Given the description of an element on the screen output the (x, y) to click on. 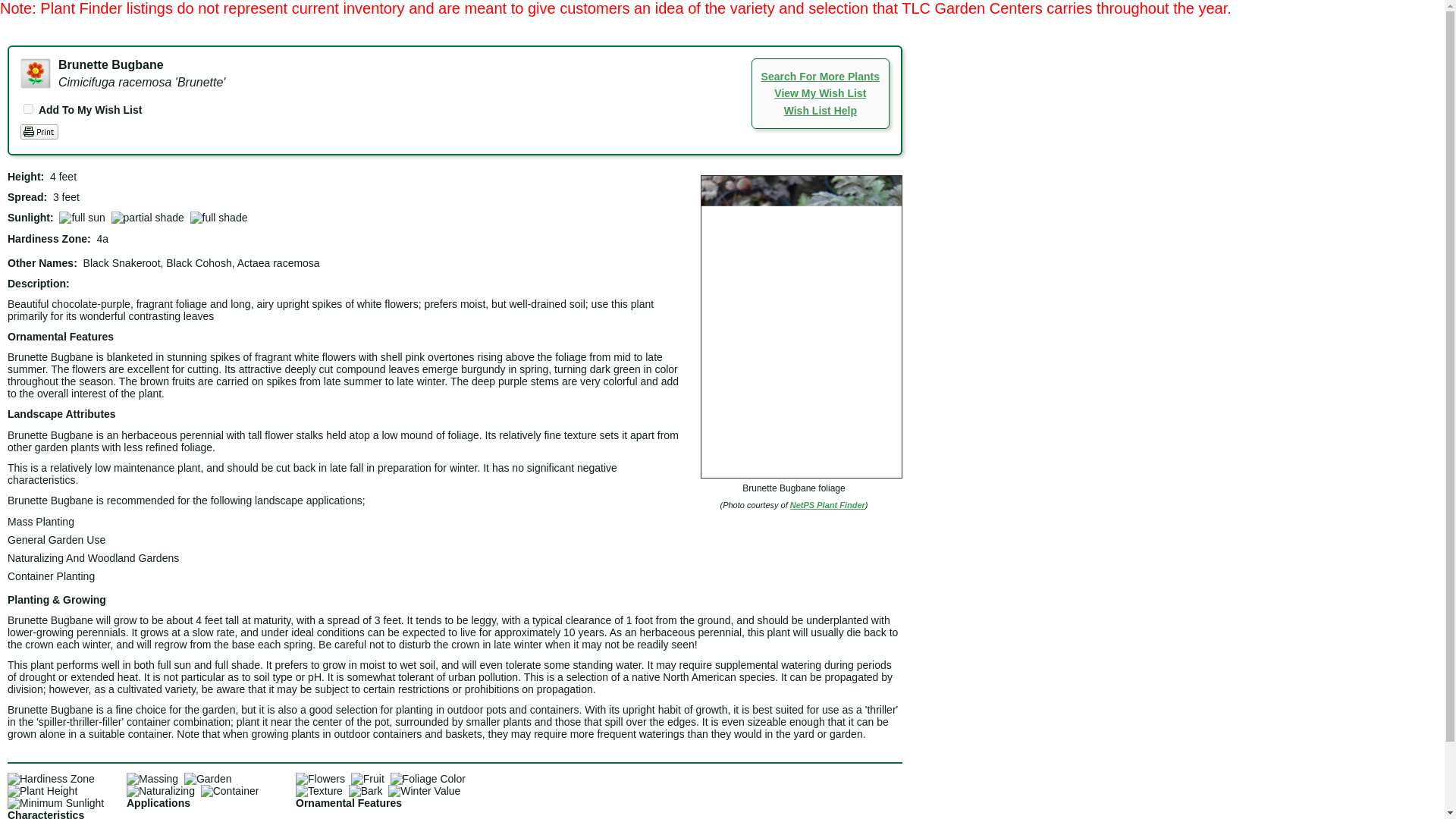
NetPS Plant Finder (827, 504)
Minimum Sunlight (55, 802)
Plant Height (42, 790)
full sun (81, 217)
Fruit (367, 778)
Wish List Help (820, 110)
Hardiness Zone (50, 778)
True (28, 108)
Container (229, 790)
Garden (207, 778)
Naturalizing (160, 790)
Flowers (320, 778)
full shade (218, 217)
print page (39, 131)
partial shade (148, 217)
